Given the description of an element on the screen output the (x, y) to click on. 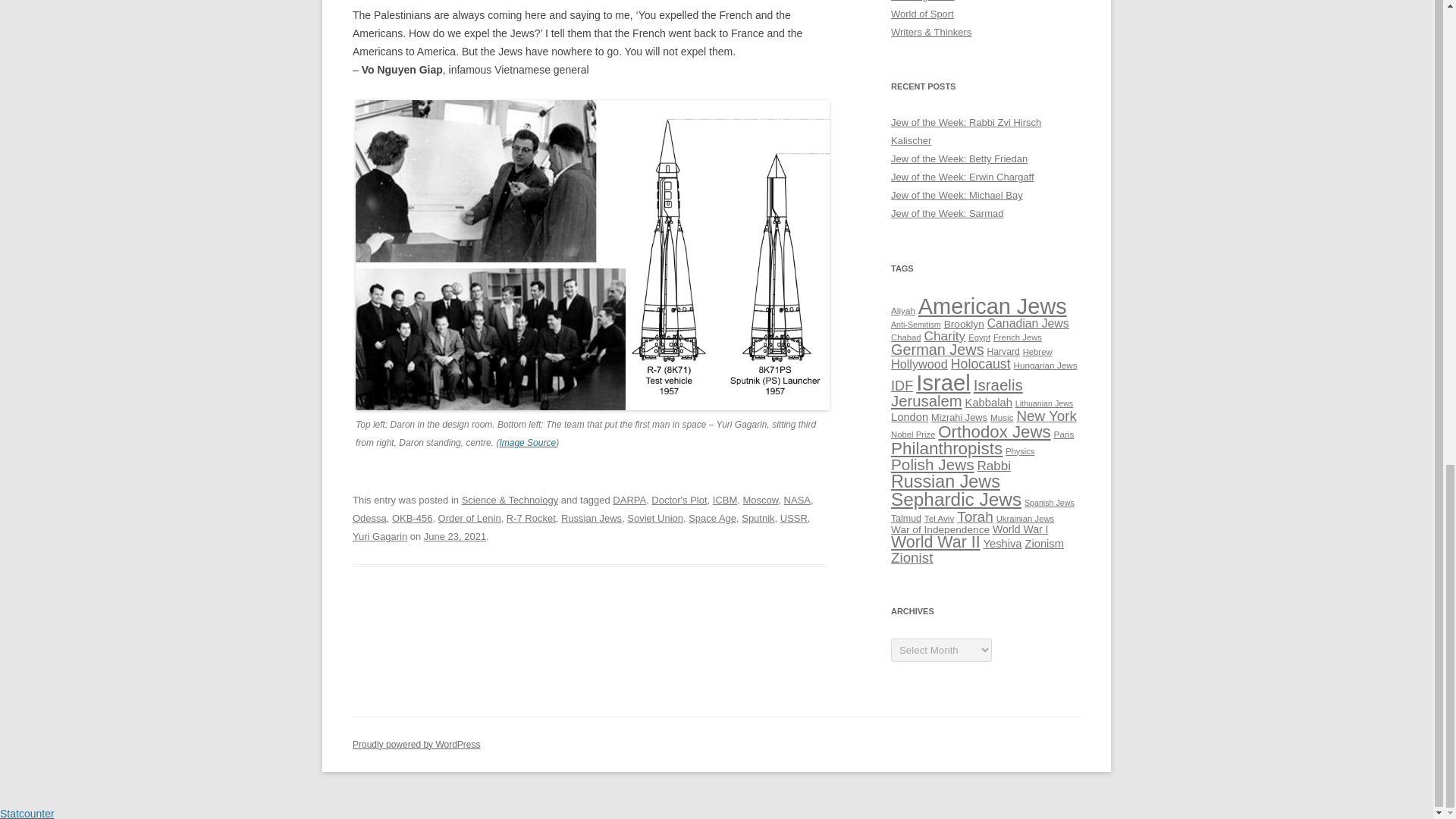
Russian Jews (590, 518)
World of Sport (922, 13)
ICBM (724, 500)
Sputnik (757, 518)
Doctor's Plot (678, 500)
June 23, 2021 (454, 536)
Soviet Union (654, 518)
OKB-456 (411, 518)
Order of Lenin (469, 518)
R-7 Rocket (531, 518)
Space Age (712, 518)
Yuri Gagarin (379, 536)
10:49 pm (454, 536)
NASA (797, 500)
Odessa (369, 518)
